Given the description of an element on the screen output the (x, y) to click on. 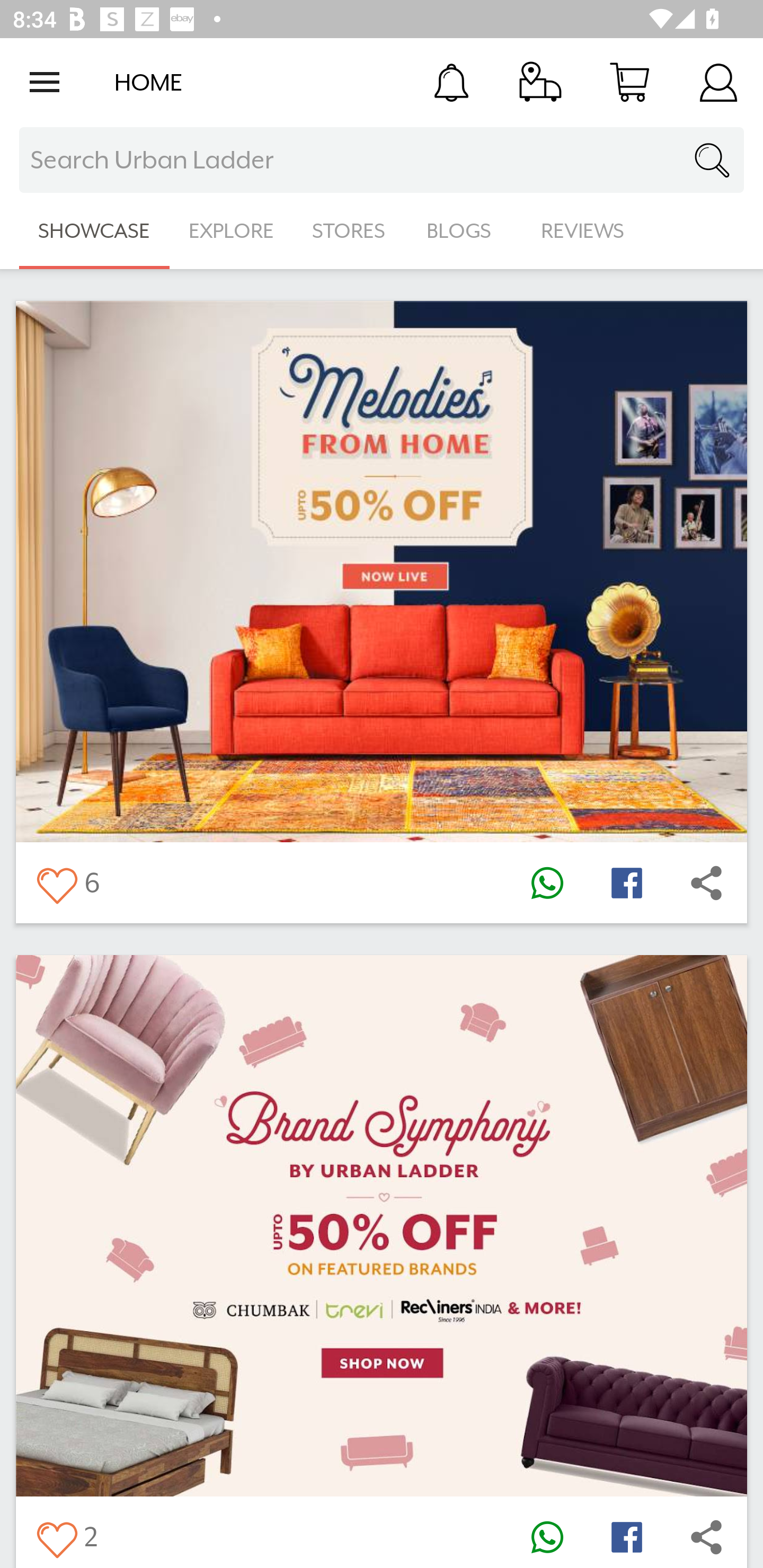
Open navigation drawer (44, 82)
Notification (450, 81)
Track Order (540, 81)
Cart (629, 81)
Account Details (718, 81)
Search Urban Ladder  (381, 159)
SHOWCASE (94, 230)
EXPLORE (230, 230)
STORES (349, 230)
BLOGS (464, 230)
REVIEWS (582, 230)
 (55, 882)
 (547, 882)
 (626, 882)
 (706, 882)
 (55, 1536)
 (547, 1536)
 (626, 1536)
 (706, 1536)
